Given the description of an element on the screen output the (x, y) to click on. 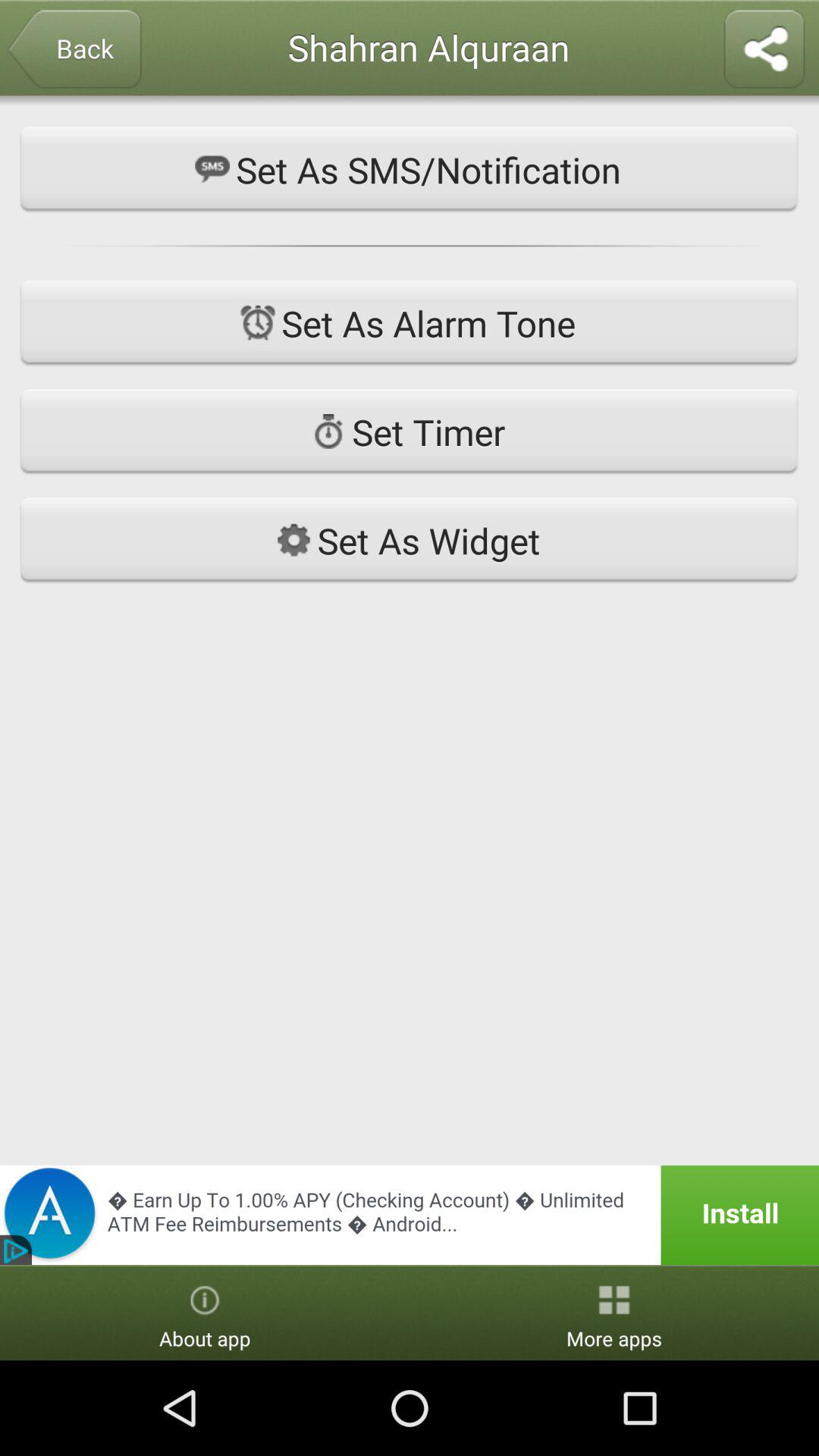
share button (764, 50)
